Given the description of an element on the screen output the (x, y) to click on. 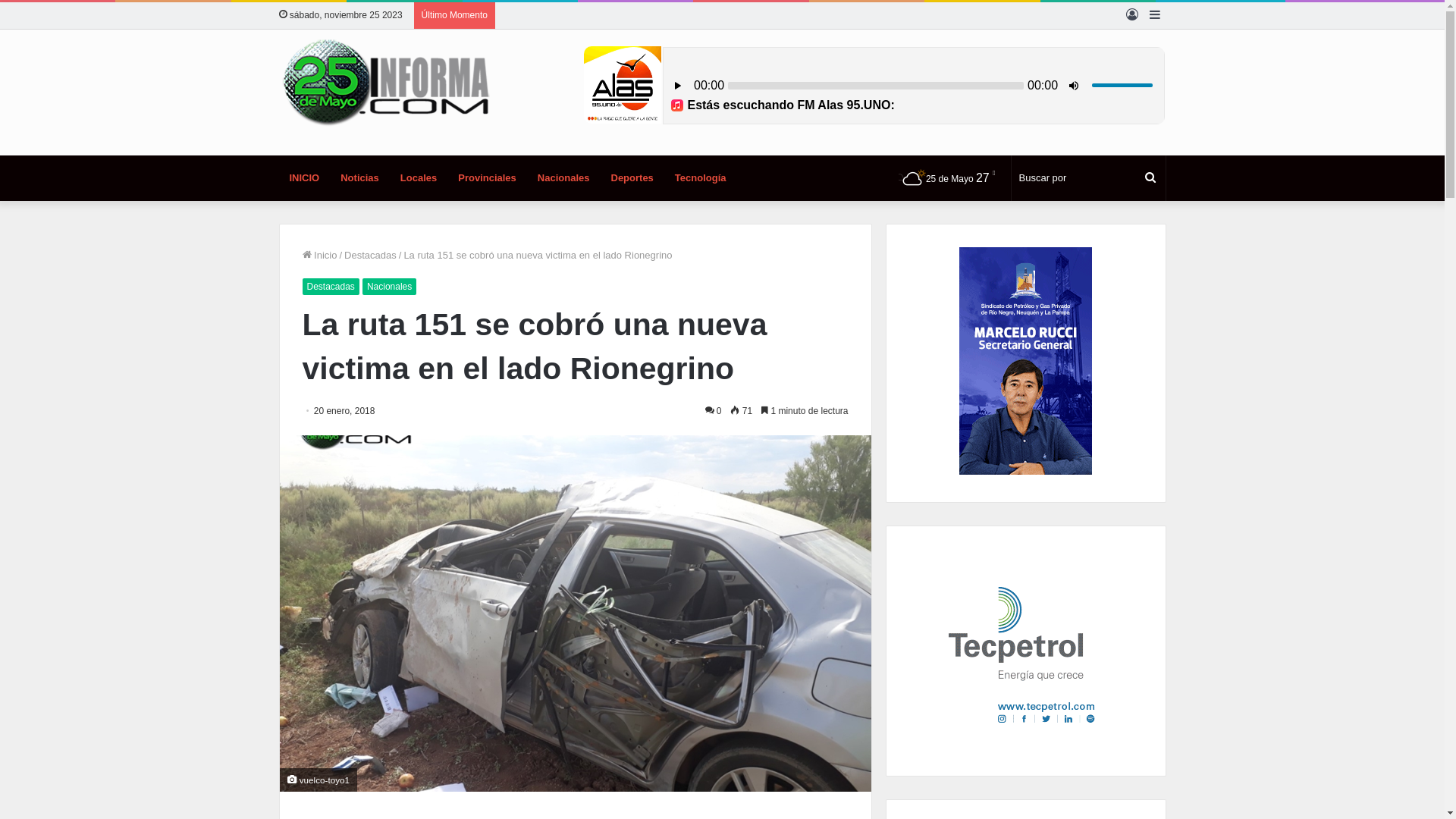
Barra lateral Element type: text (1154, 15)
Destacadas Element type: text (329, 286)
Deportes Element type: text (632, 177)
Buscar por Element type: text (1149, 177)
Inicio Element type: text (318, 254)
Buscar por Element type: hover (1088, 177)
INICIO Element type: text (304, 177)
Acceso Element type: text (1131, 15)
Destacadas Element type: text (370, 254)
Noticias Element type: text (359, 177)
Locales Element type: text (418, 177)
Nacionales Element type: text (389, 286)
25informa.com Element type: hover (385, 82)
Provinciales Element type: text (487, 177)
Nacionales Element type: text (563, 177)
